Given the description of an element on the screen output the (x, y) to click on. 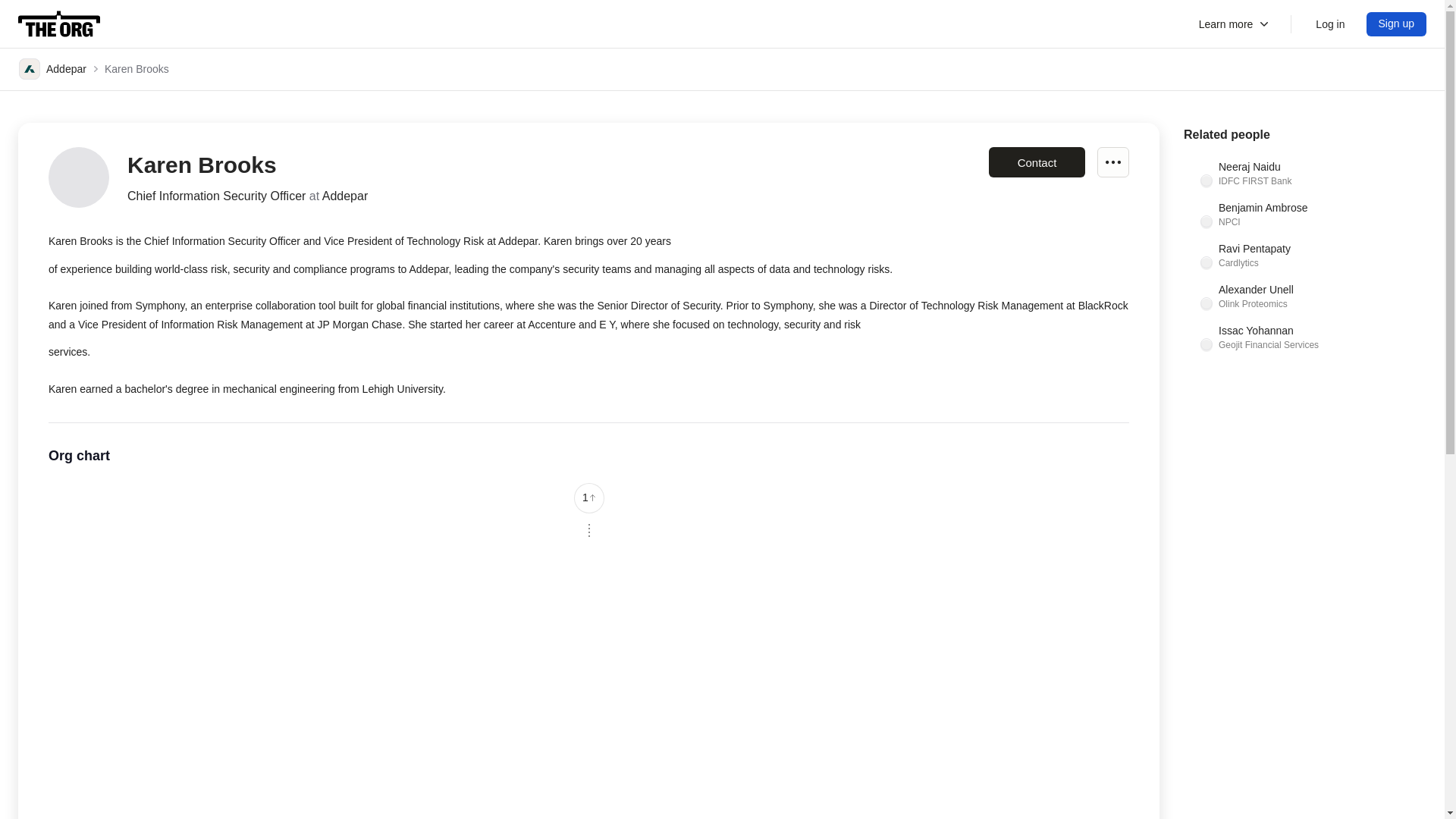
The Org Home (58, 23)
Sign up to The Org (1304, 296)
Sign up (1396, 24)
Log in (1396, 24)
Addepar (1329, 24)
Learn more (51, 68)
